Given the description of an element on the screen output the (x, y) to click on. 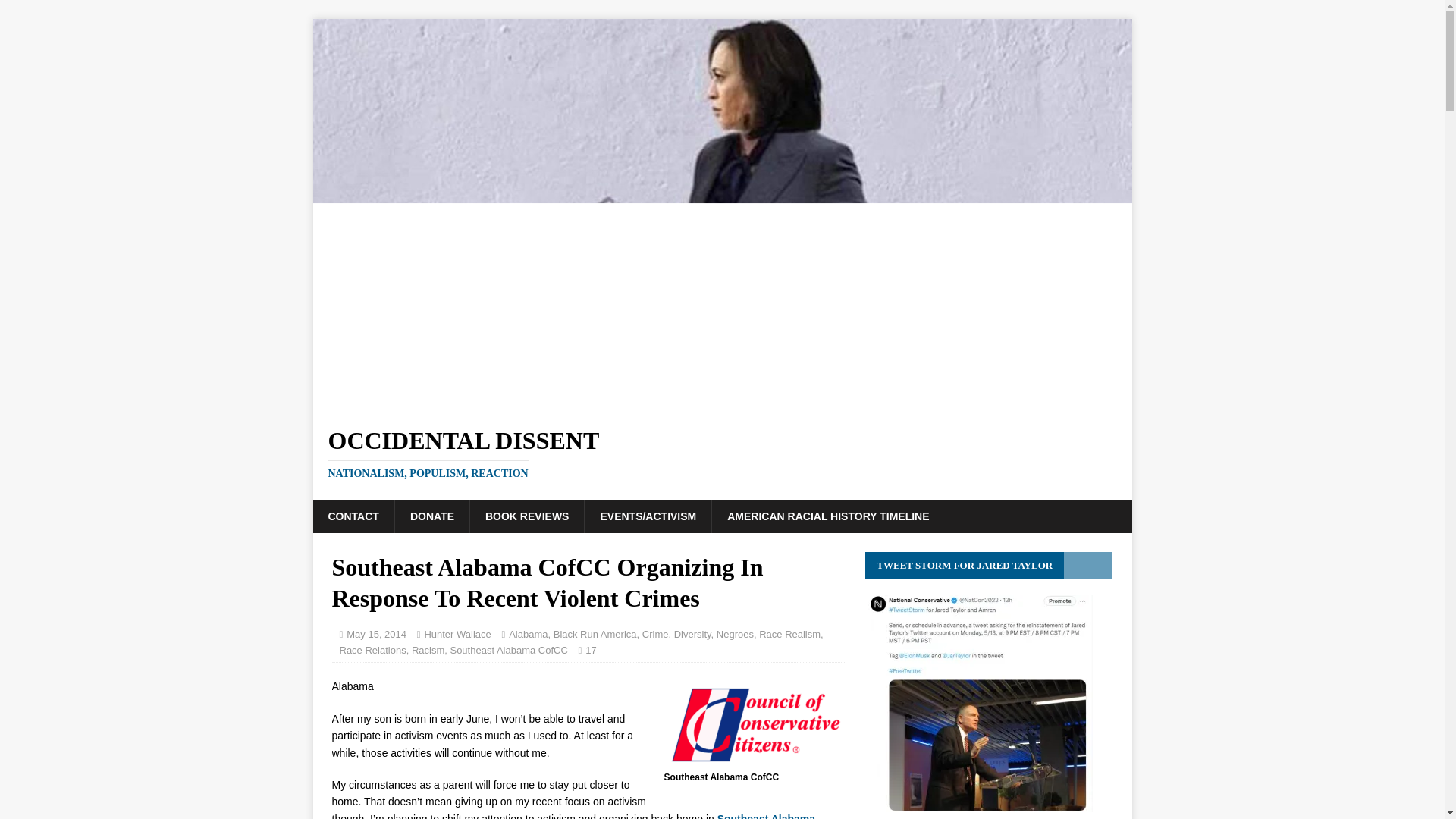
17 (590, 650)
BOOK REVIEWS (525, 516)
Southeast Alabama CofCC (508, 650)
Black Run America (595, 633)
Racism (428, 650)
Alabama (527, 633)
Hunter Wallace (456, 633)
May 15, 2014 (376, 633)
AMERICAN RACIAL HISTORY TIMELINE (827, 516)
Crime (655, 633)
